Given the description of an element on the screen output the (x, y) to click on. 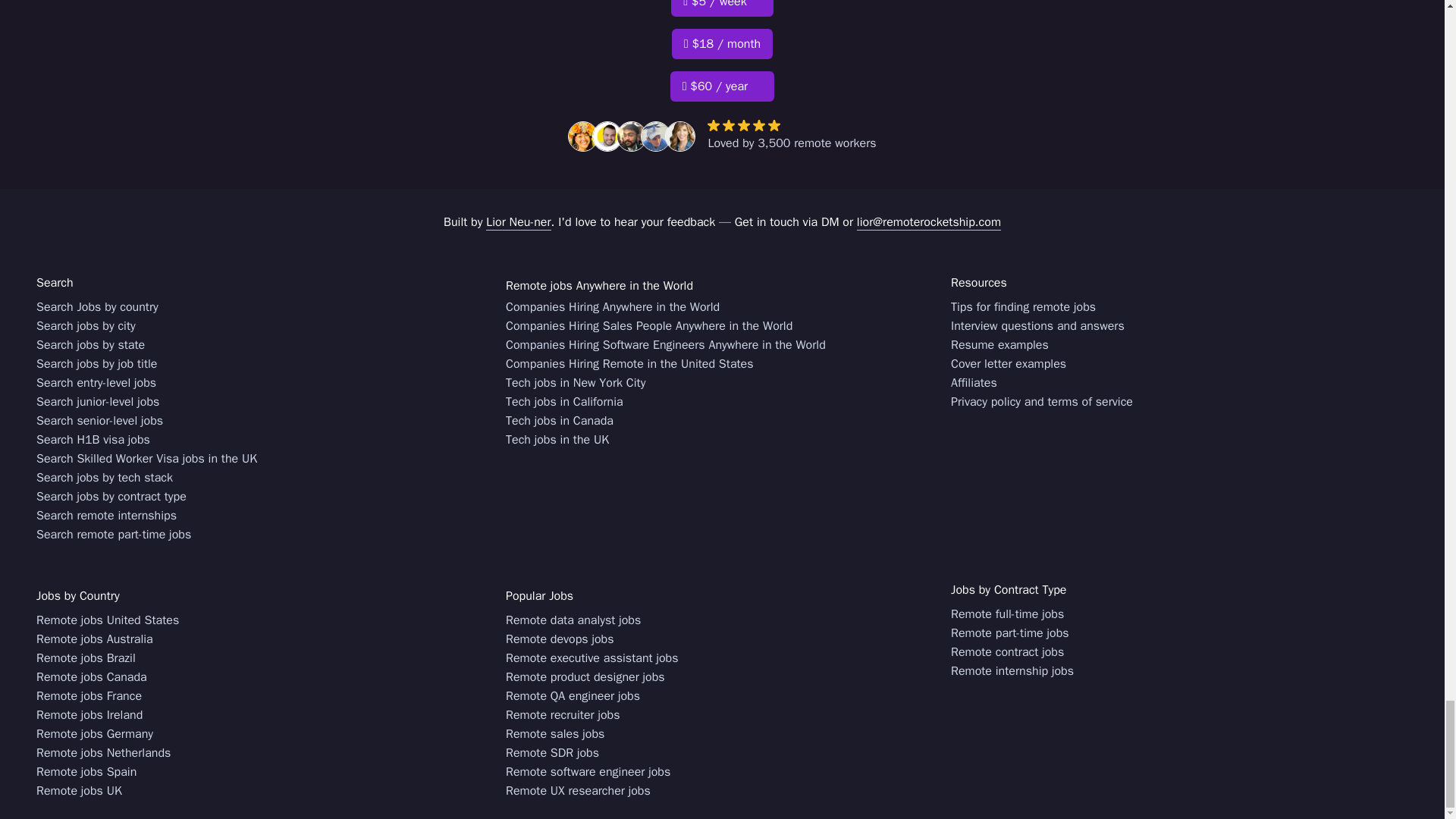
Search jobs by state (90, 344)
Search remote part-time jobs (113, 534)
Companies Hiring Anywhere in the World (612, 307)
Search jobs by contract type (111, 496)
Search jobs by tech stack (104, 477)
Lior Neu-ner (518, 222)
Search jobs by city (85, 325)
Search H1B visa jobs (92, 439)
Search remote internships (106, 515)
Search Jobs by country (97, 307)
